Given the description of an element on the screen output the (x, y) to click on. 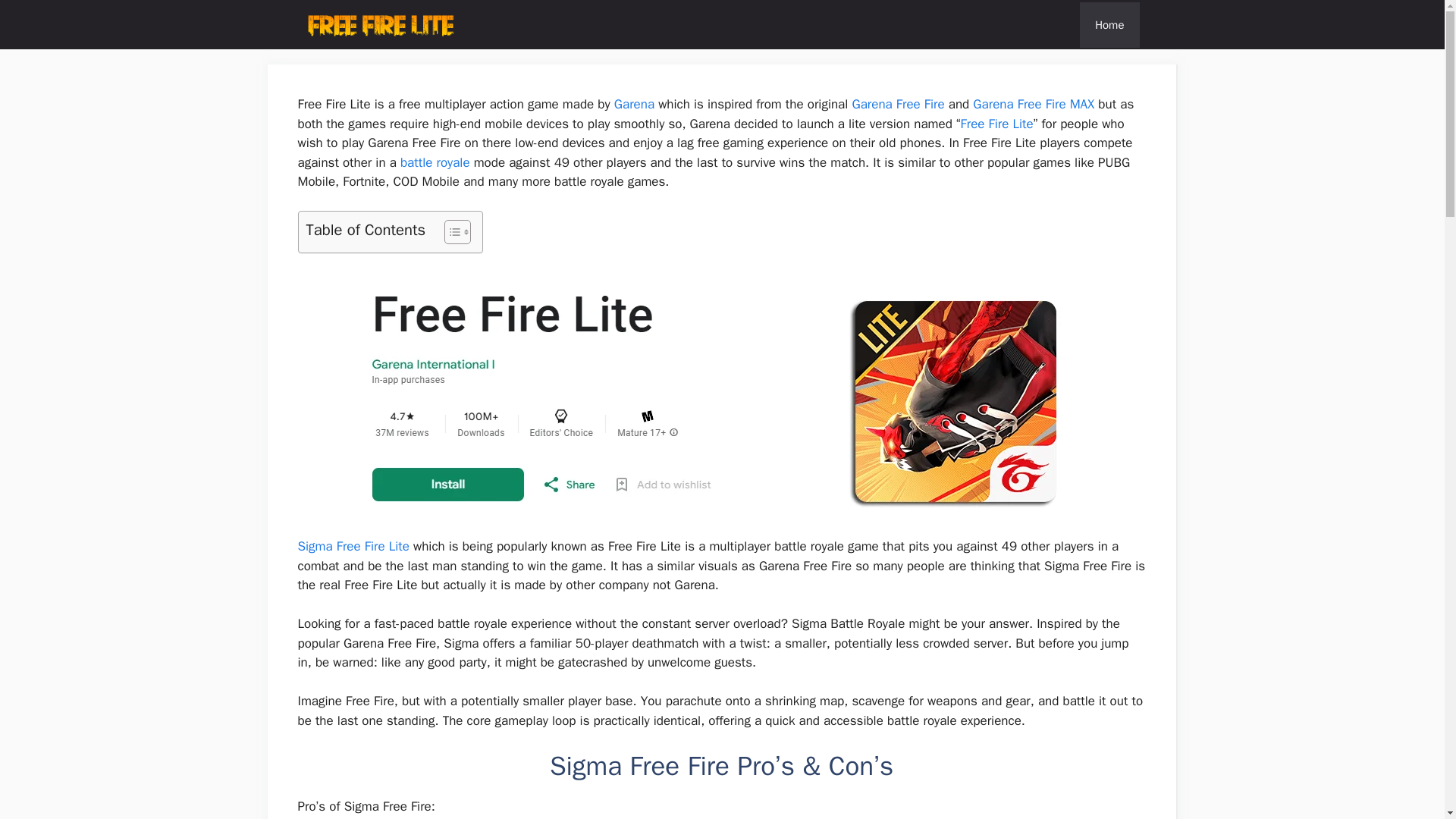
Garena Free Fire MAX (1033, 104)
Garena Free Fire (897, 104)
Home (1109, 23)
FFL (379, 24)
Garena (633, 104)
battle royale (435, 162)
Free Fire Lite (996, 123)
Sigma Free Fire Lite (353, 546)
